Given the description of an element on the screen output the (x, y) to click on. 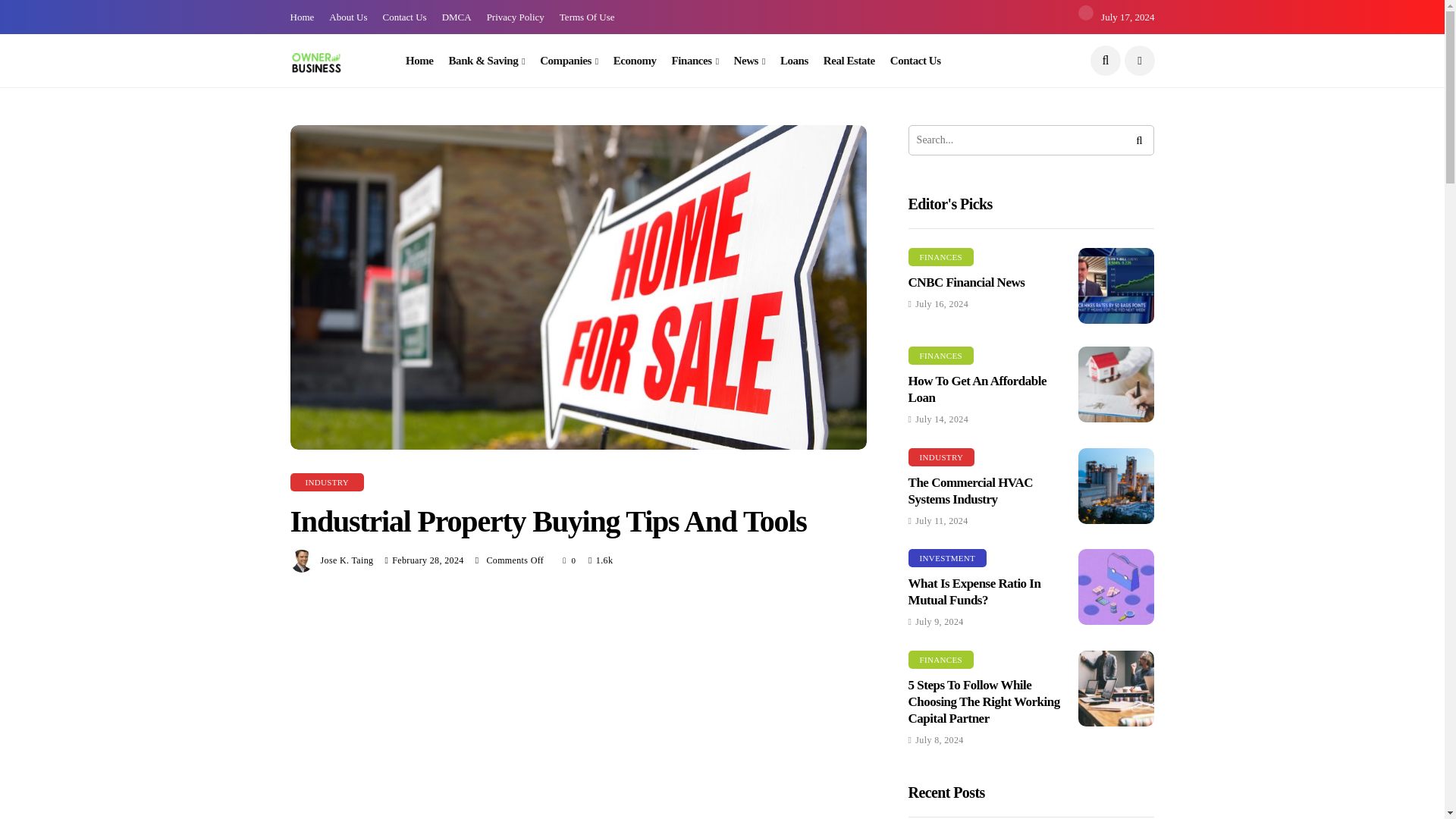
Jose K. Taing (346, 560)
Posts by Jose K. Taing (346, 560)
Real Estate (849, 60)
Like (569, 560)
Terms Of Use (586, 17)
Companies (569, 60)
Privacy Policy (515, 17)
INDUSTRY (326, 482)
Contact Us (914, 60)
Contact Us (403, 17)
Advertisement (577, 712)
About Us (347, 17)
